Given the description of an element on the screen output the (x, y) to click on. 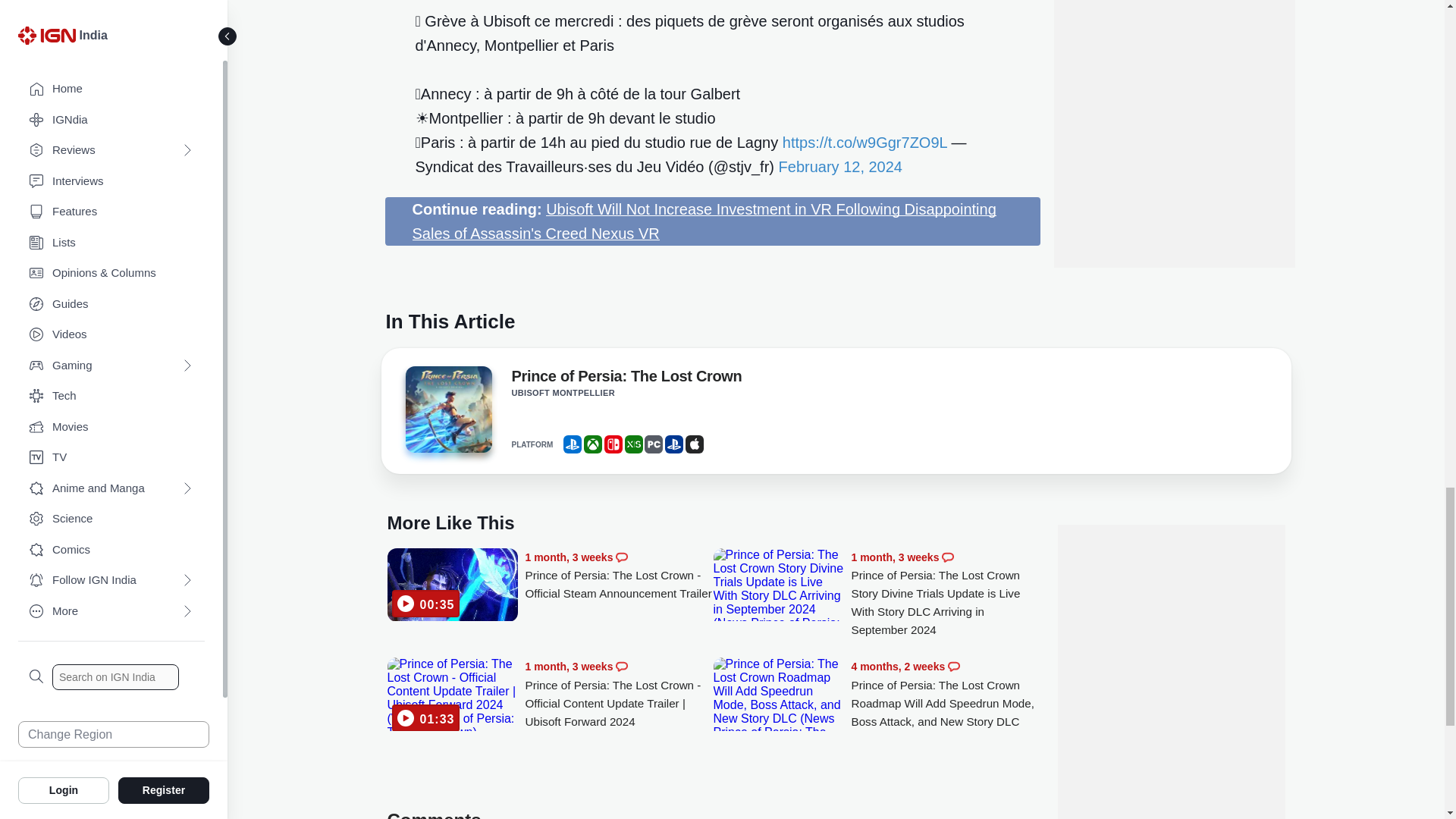
Prince of Persia: The Lost Crown (448, 409)
Prince of Persia: The Lost Crown (626, 378)
Prince of Persia: The Lost Crown (448, 414)
